Given the description of an element on the screen output the (x, y) to click on. 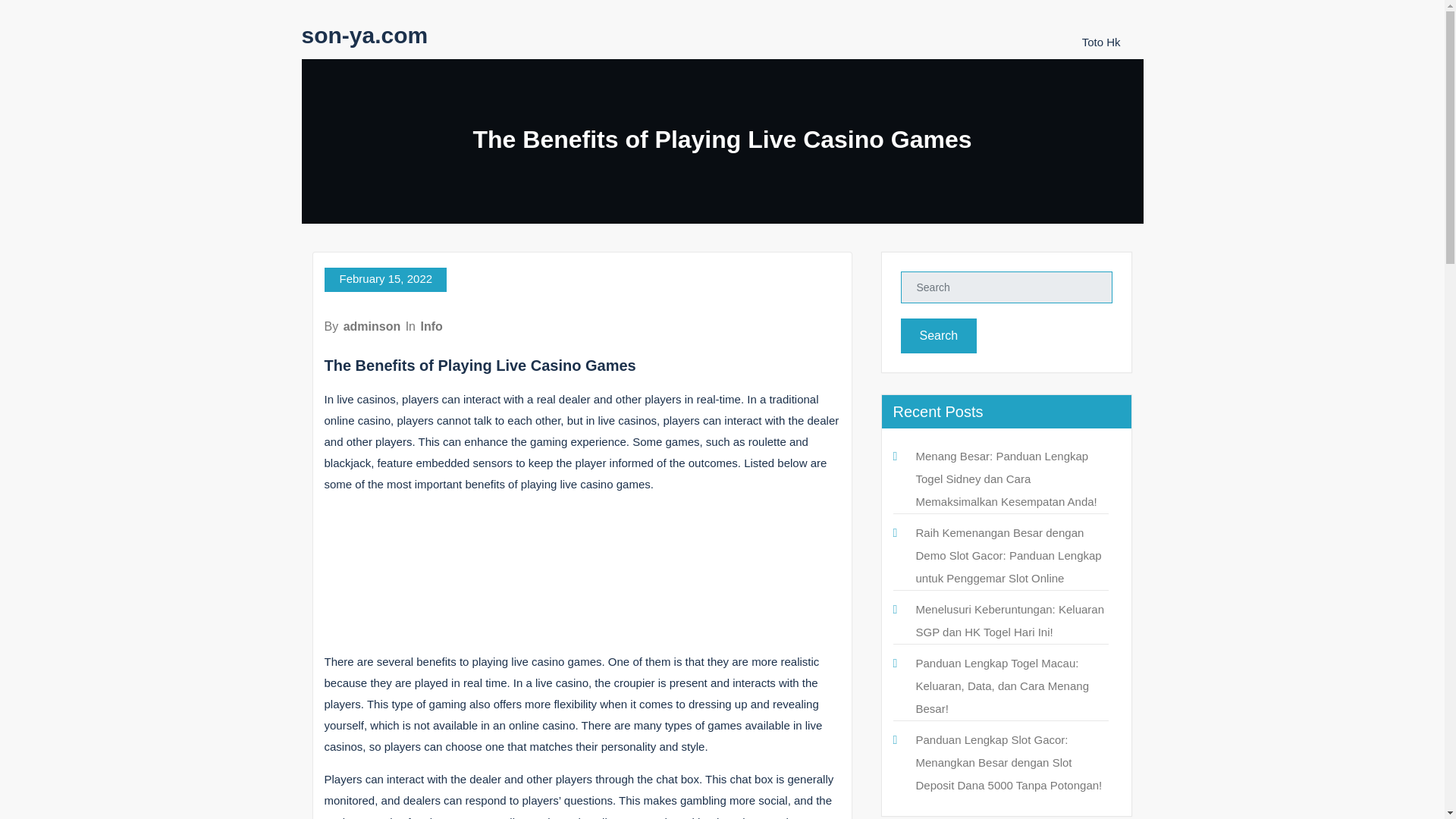
Toto Hk (1101, 41)
son-ya.com (364, 34)
Info (431, 326)
adminson (372, 326)
Search (938, 335)
February 15, 2022 (385, 279)
